Given the description of an element on the screen output the (x, y) to click on. 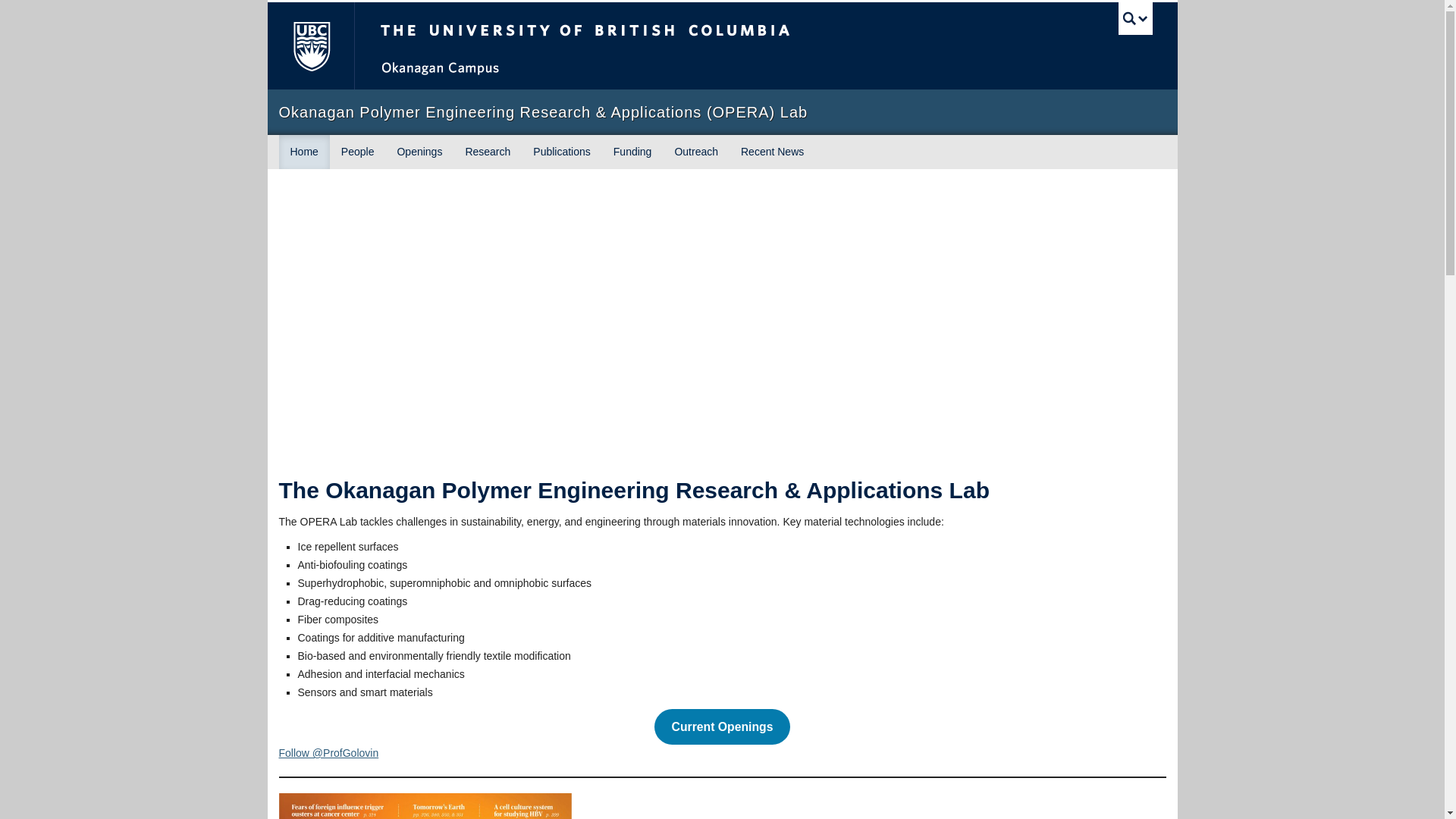
The University of British Columbia (309, 45)
Openings (418, 151)
Recent News (772, 151)
Home (304, 151)
Current Openings (721, 726)
UBC Search (1135, 18)
Research (486, 151)
Outreach (695, 151)
Publications (561, 151)
The University of British Columbia (635, 45)
